Given the description of an element on the screen output the (x, y) to click on. 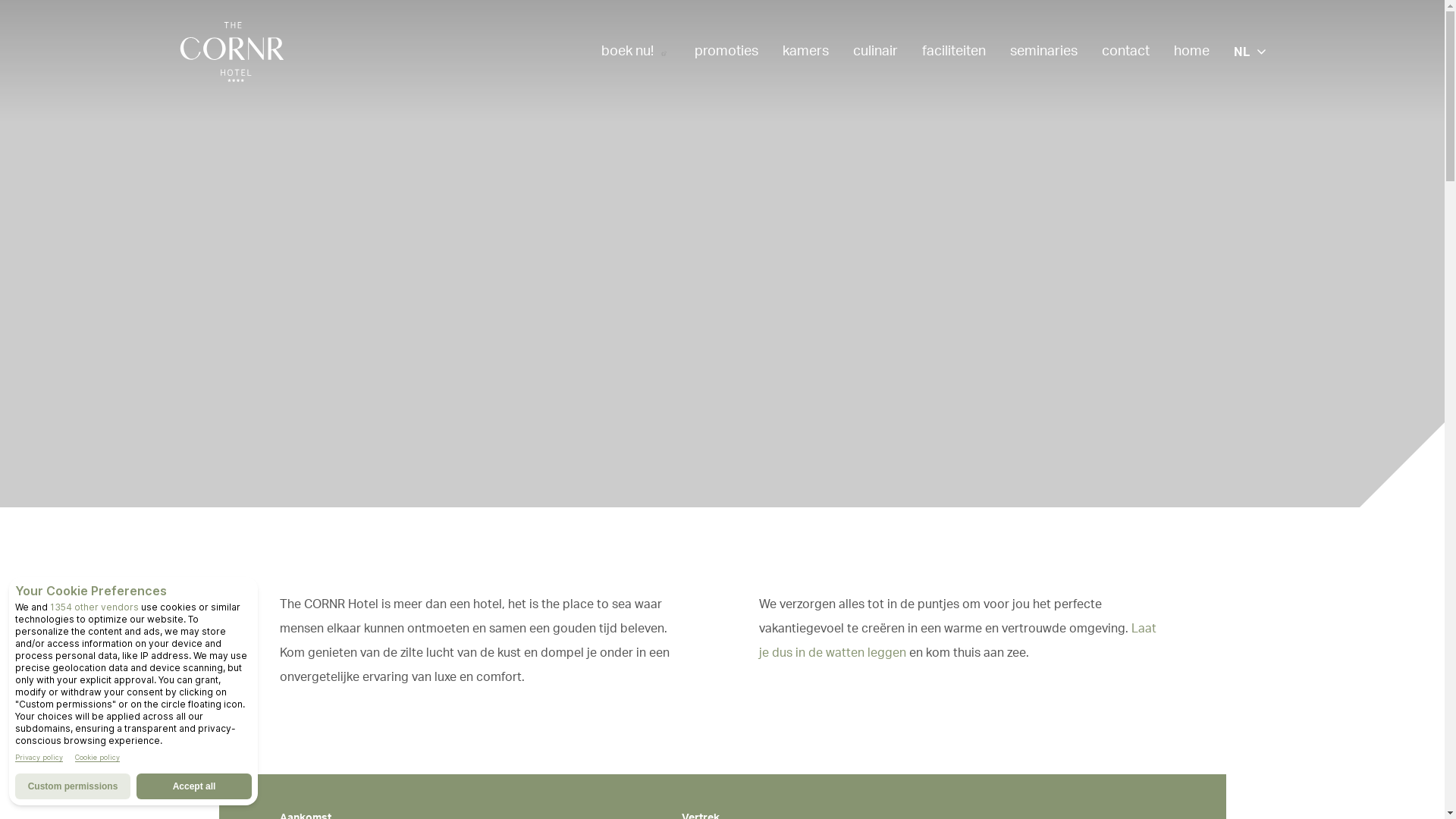
Skip to main content Element type: text (0, 0)
seminaries Element type: text (1043, 50)
Home Element type: hover (230, 51)
contact Element type: text (1124, 50)
home Element type: text (1191, 50)
faciliteiten Element type: text (953, 50)
NL Element type: text (1248, 51)
promoties Element type: text (726, 50)
Laat je dus in de watten leggen Element type: text (956, 640)
culinair Element type: text (874, 50)
kamers Element type: text (805, 50)
boek nu! Element type: text (634, 50)
